Given the description of an element on the screen output the (x, y) to click on. 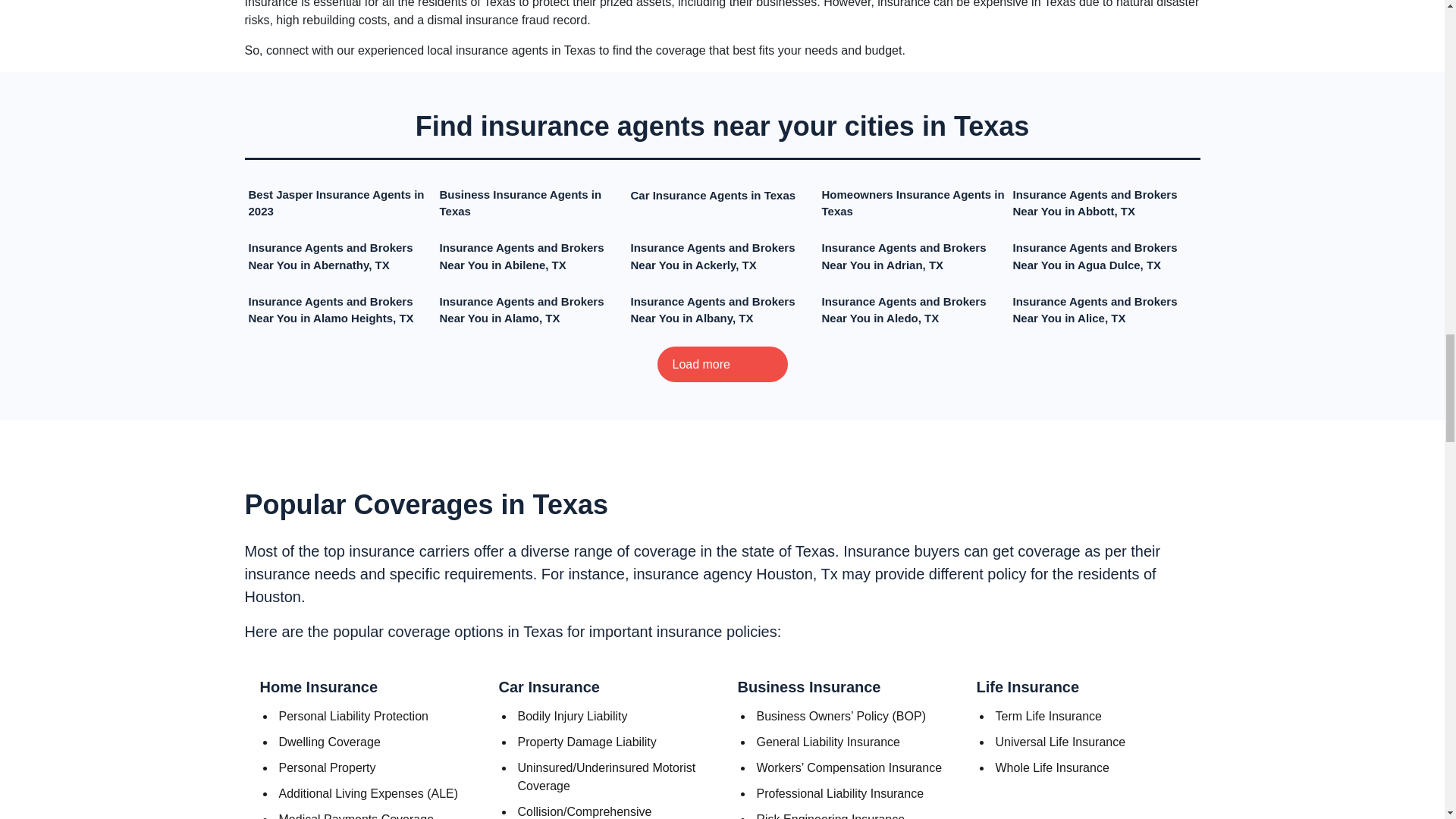
Homeowners Insurance Agents in Texas (914, 203)
Insurance Agents and Brokers Near You in Alamo, TX (531, 310)
Insurance Agents and Brokers Near You in Alamo Heights, TX (340, 310)
Insurance Agents and Brokers Near You in Albany, TX (721, 310)
Insurance Agents and Brokers Near You in Adrian, TX (914, 256)
Best Jasper Insurance Agents in 2023 (340, 203)
Insurance Agents and Brokers Near You in Abilene, TX (531, 256)
Insurance Agents and Brokers Near You in Abernathy, TX (340, 256)
Insurance Agents and Brokers Near You in Agua Dulce, TX (1104, 256)
Business Insurance Agents in Texas (531, 203)
